Given the description of an element on the screen output the (x, y) to click on. 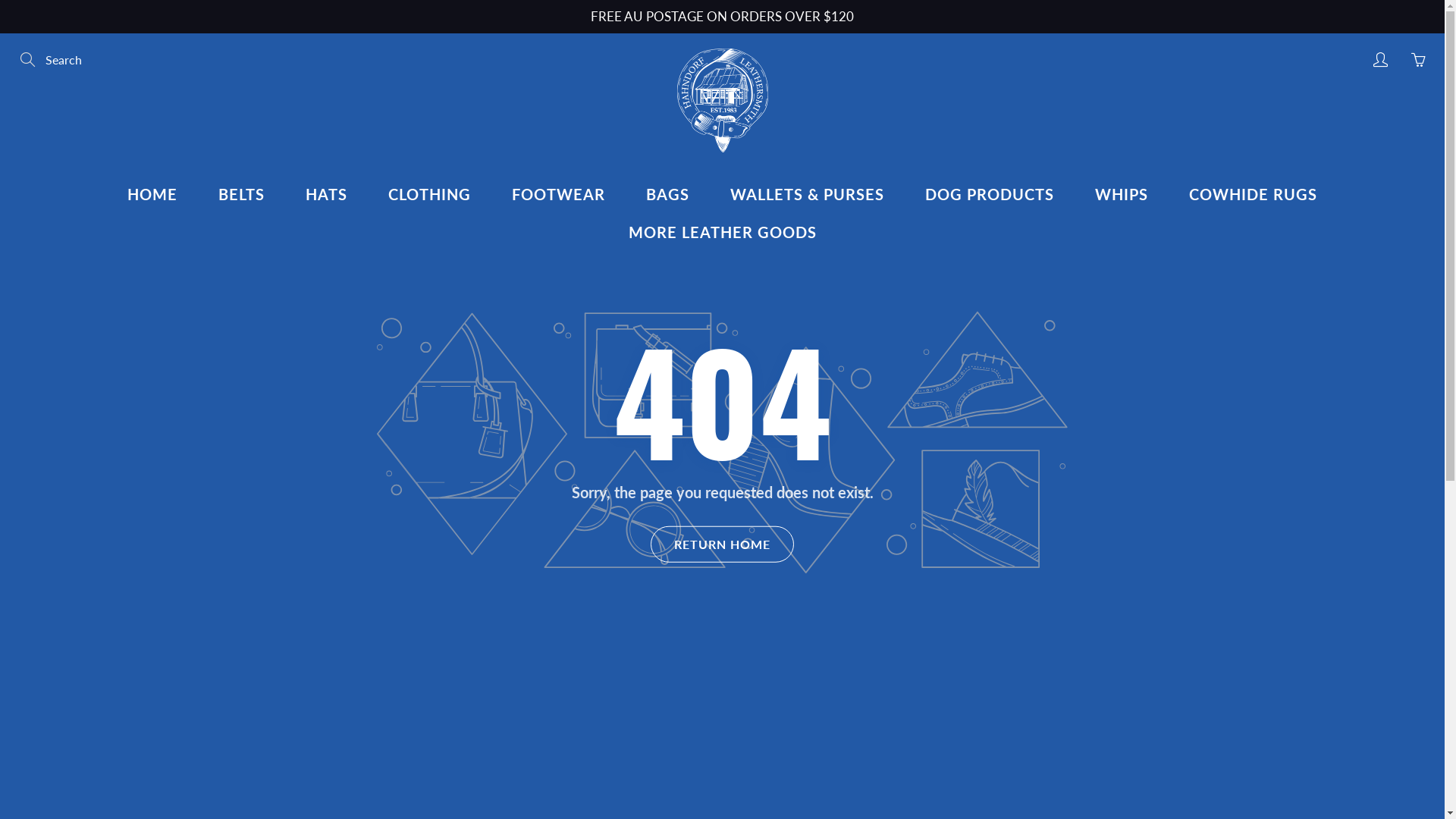
Search Element type: text (28, 59)
BELTS Element type: text (241, 194)
BAGS Element type: text (667, 194)
COWHIDE RUGS Element type: text (1253, 194)
RETURN HOME Element type: text (721, 544)
You have 0 items in your cart Element type: text (1417, 59)
HOME Element type: text (152, 194)
WHIPS Element type: text (1121, 194)
WALLETS & PURSES Element type: text (807, 194)
MORE LEATHER GOODS Element type: text (722, 232)
FOOTWEAR Element type: text (558, 194)
My account Element type: text (1379, 59)
DOG PRODUCTS Element type: text (989, 194)
HATS Element type: text (326, 194)
CLOTHING Element type: text (429, 194)
